Given the description of an element on the screen output the (x, y) to click on. 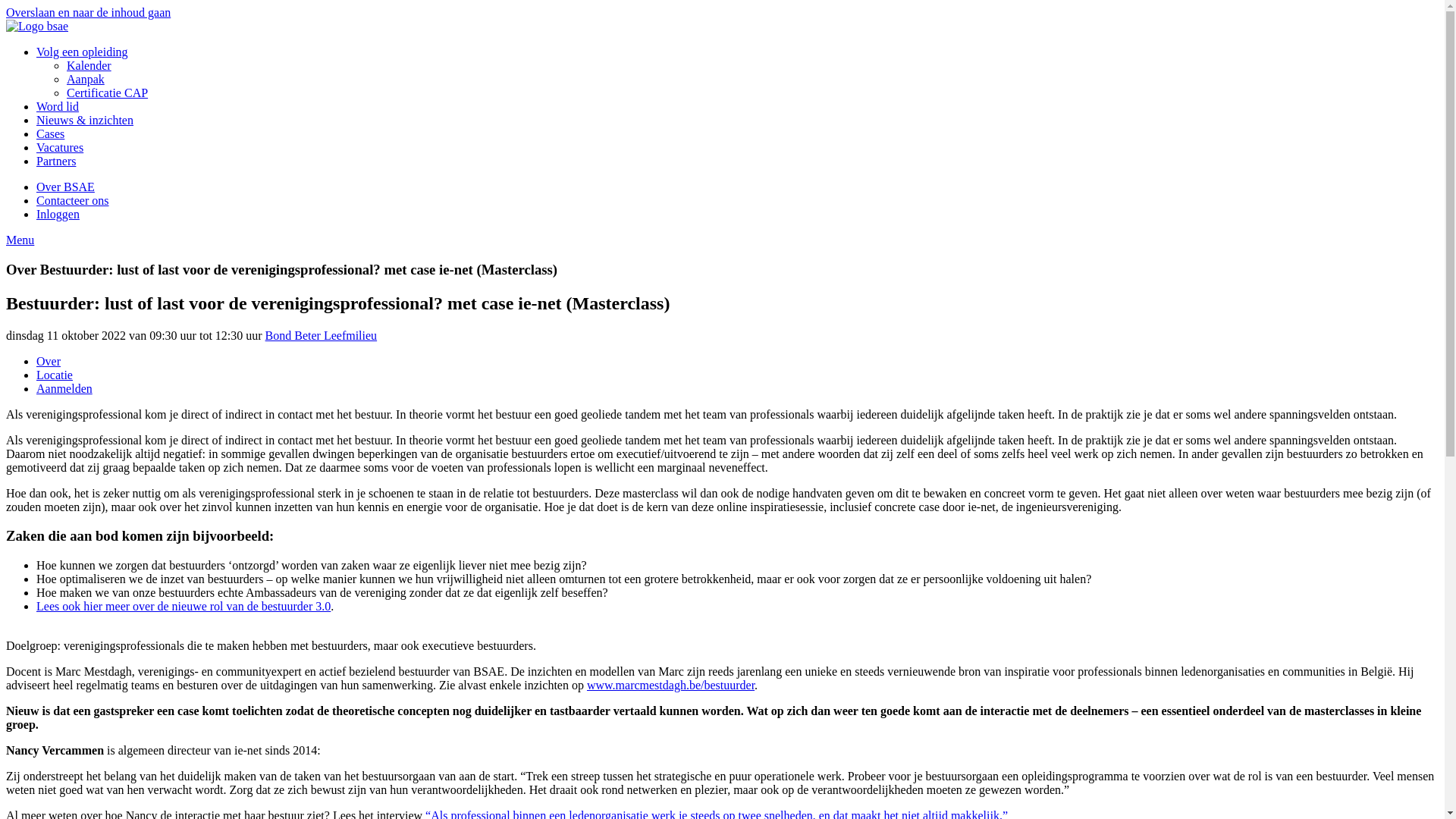
Menu Element type: text (20, 239)
Contacteer ons Element type: text (72, 200)
Lees ook hier meer over de nieuwe rol van de bestuurder 3.0 Element type: text (183, 605)
Vacatures Element type: text (59, 147)
Word lid Element type: text (57, 106)
Kalender Element type: text (88, 65)
Overslaan en naar de inhoud gaan Element type: text (88, 12)
Nieuws & inzichten Element type: text (84, 119)
Bond Beter Leefmilieu Element type: text (321, 335)
Cases Element type: text (50, 133)
Aanmelden Element type: text (64, 388)
Locatie Element type: text (54, 374)
Inloggen Element type: text (57, 213)
Aanpak Element type: text (85, 78)
Over Element type: text (48, 360)
Volg een opleiding Element type: text (82, 51)
Partners Element type: text (55, 160)
Over BSAE Element type: text (65, 186)
www.marcmestdagh.be/bestuurder Element type: text (670, 684)
Certificatie CAP Element type: text (106, 92)
